Given the description of an element on the screen output the (x, y) to click on. 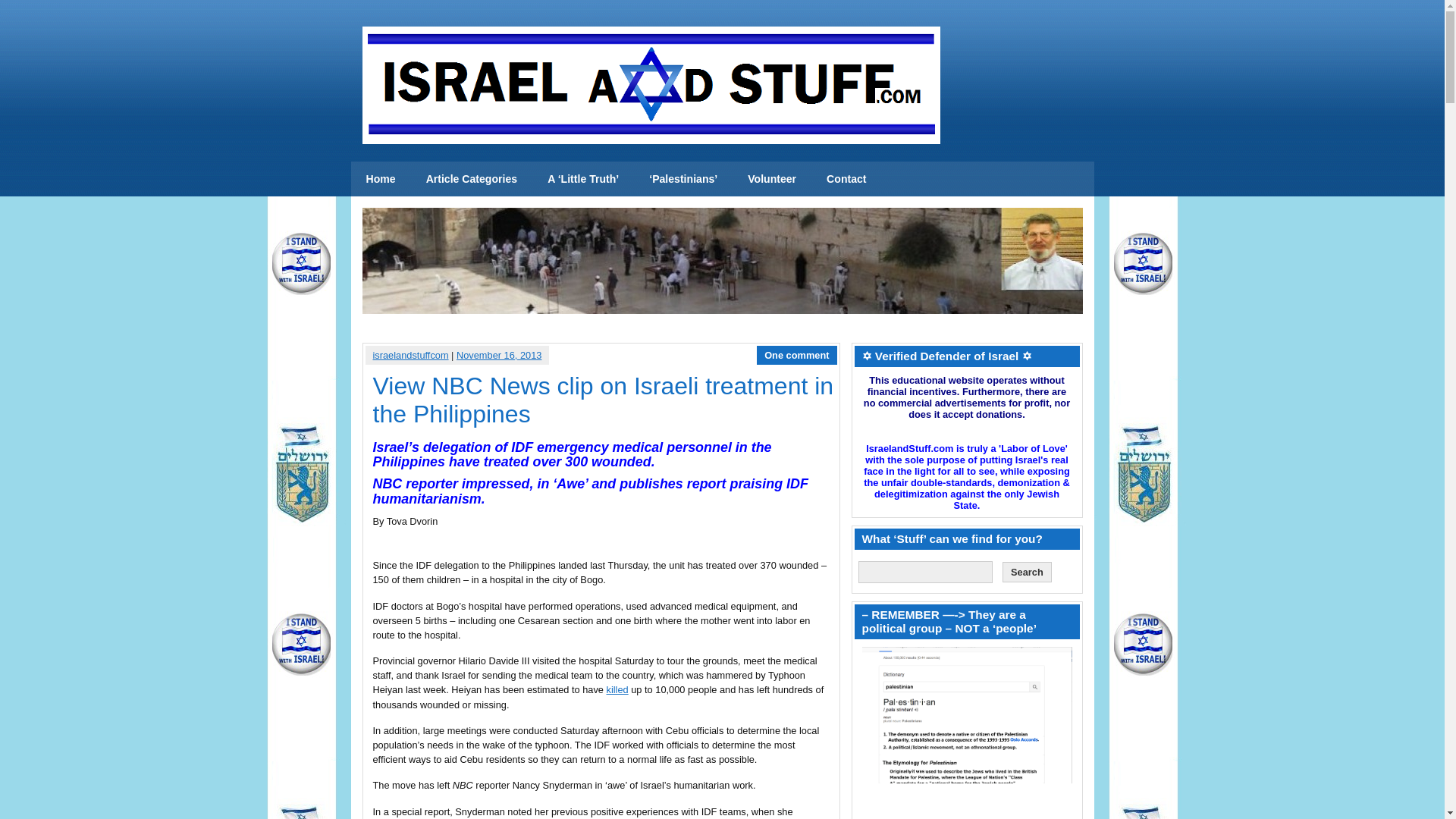
November 16, 2013 (499, 355)
Contact (845, 178)
Posts by israelandstuffcom (410, 355)
Volunteer (771, 178)
Home (380, 178)
One comment (796, 355)
news (380, 178)
Search (1027, 571)
Article Categories (471, 178)
israelandstuffcom (410, 355)
